Given the description of an element on the screen output the (x, y) to click on. 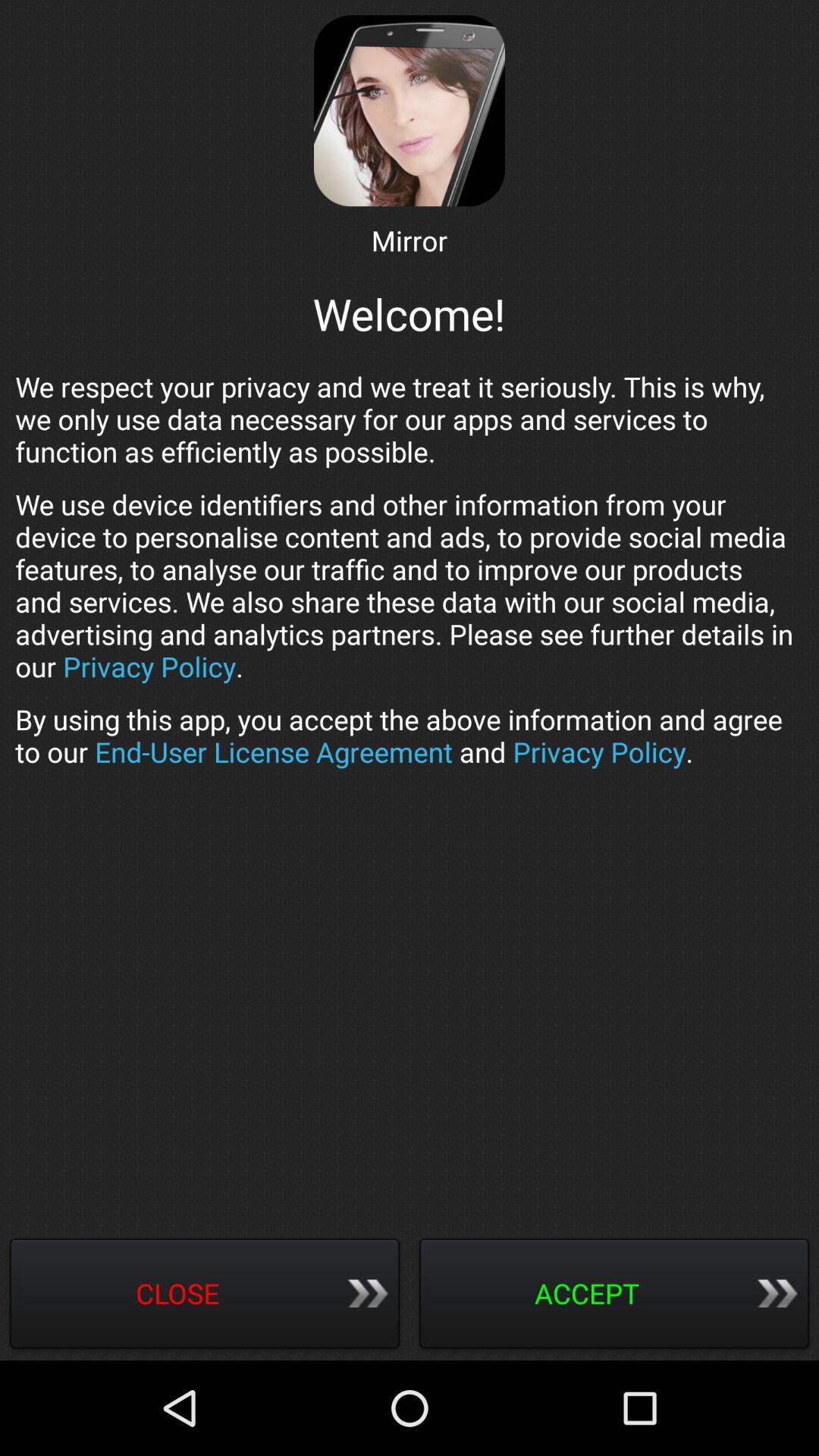
tap the app below we use device icon (409, 735)
